Given the description of an element on the screen output the (x, y) to click on. 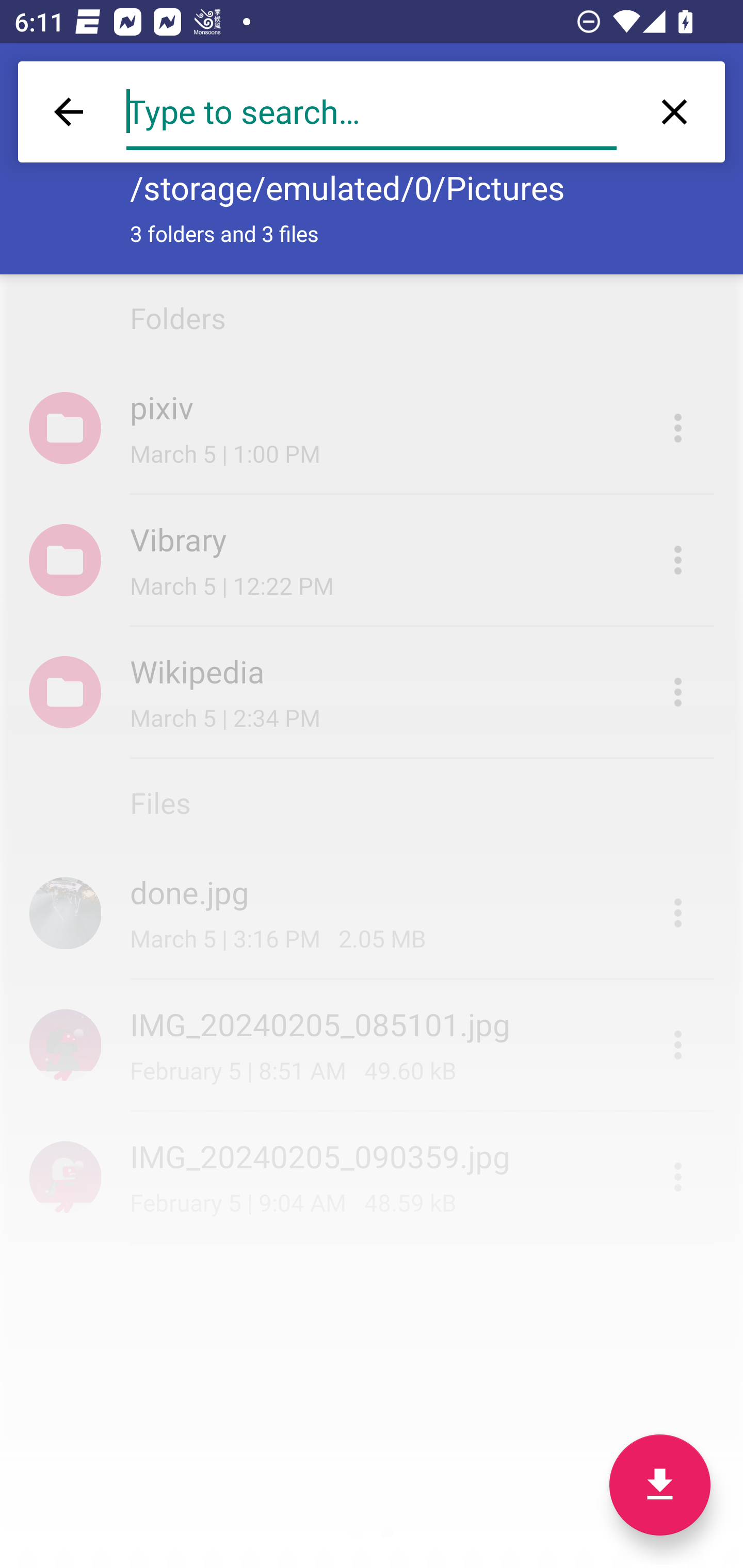
Type to search… (371, 112)
pixiv March 5 | 1:00 PM (371, 427)
Vibrary March 5 | 12:22 PM (371, 560)
Wikipedia March 5 | 2:34 PM (371, 692)
icon done.jpg March 5 | 3:16 PM 2.05 MB (371, 913)
icon (64, 912)
icon (64, 1044)
icon (64, 1177)
